Given the description of an element on the screen output the (x, y) to click on. 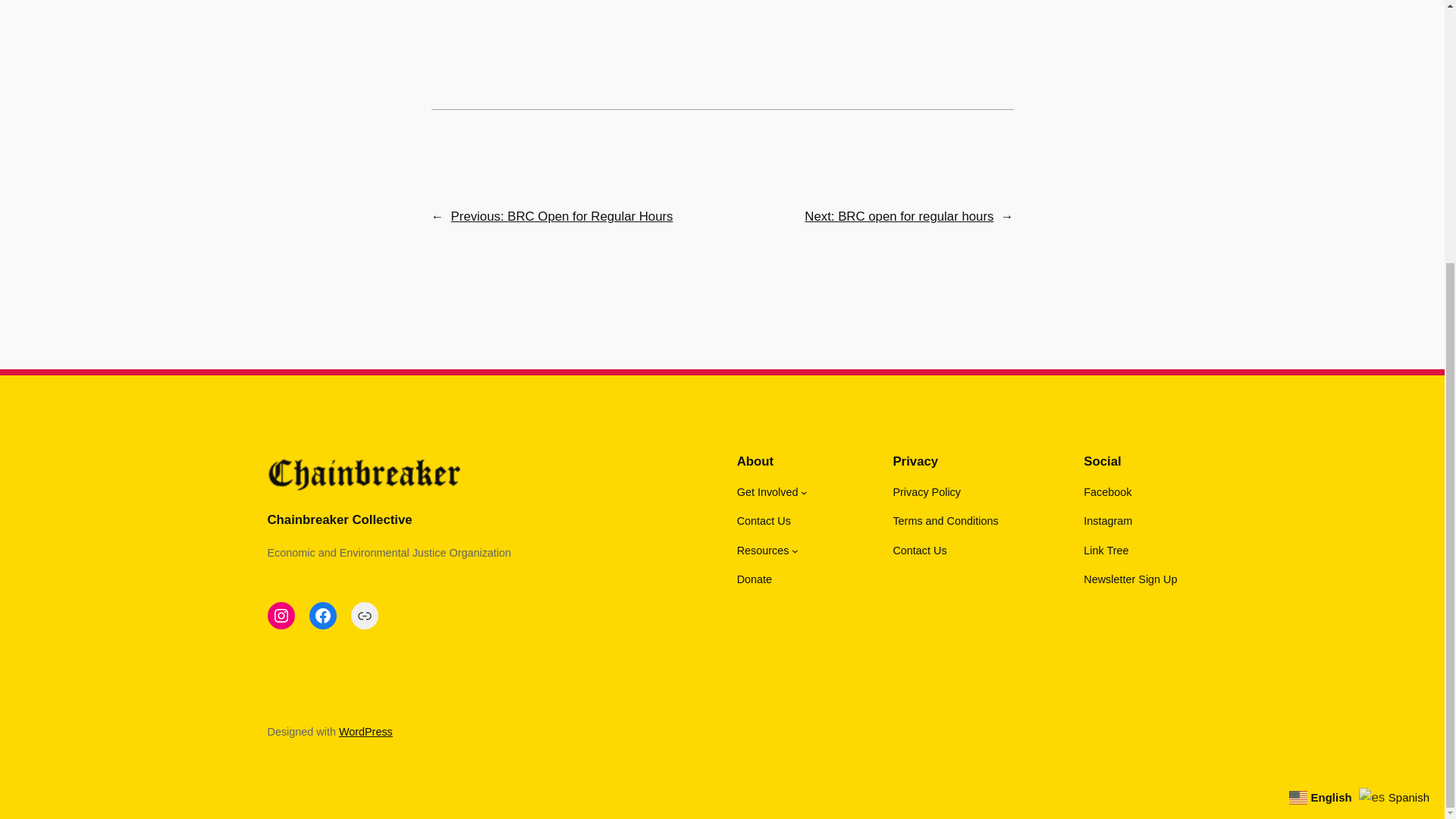
Previous: BRC Open for Regular Hours (561, 216)
Contact Us (763, 520)
Resources (762, 550)
Get Involved (766, 492)
Next: BRC open for regular hours (898, 216)
Chainbreaker Collective (339, 519)
